Given the description of an element on the screen output the (x, y) to click on. 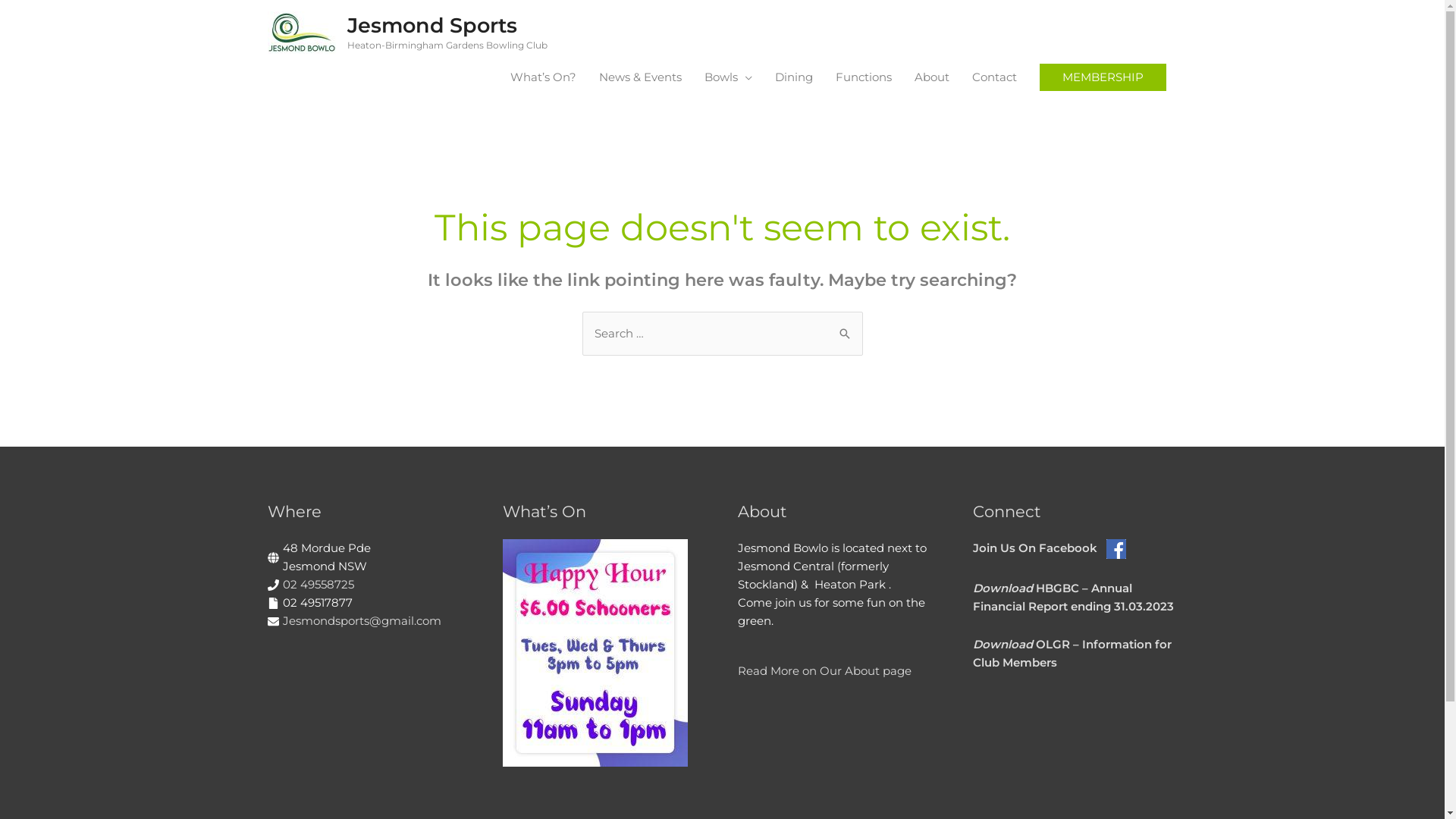
MEMBERSHIP Element type: text (1101, 77)
Read More on Our About page Element type: text (823, 670)
Join Us On Facebook    Element type: text (1048, 547)
Search Element type: text (845, 331)
Dining Element type: text (792, 77)
Contact Element type: text (993, 77)
Bowls Element type: text (728, 77)
Functions Element type: text (862, 77)
News & Events Element type: text (639, 77)
Jesmondsports@gmail.com Element type: text (361, 620)
02 49558725 Element type: text (317, 584)
About Element type: text (931, 77)
Jesmond Sports Element type: text (432, 24)
